Given the description of an element on the screen output the (x, y) to click on. 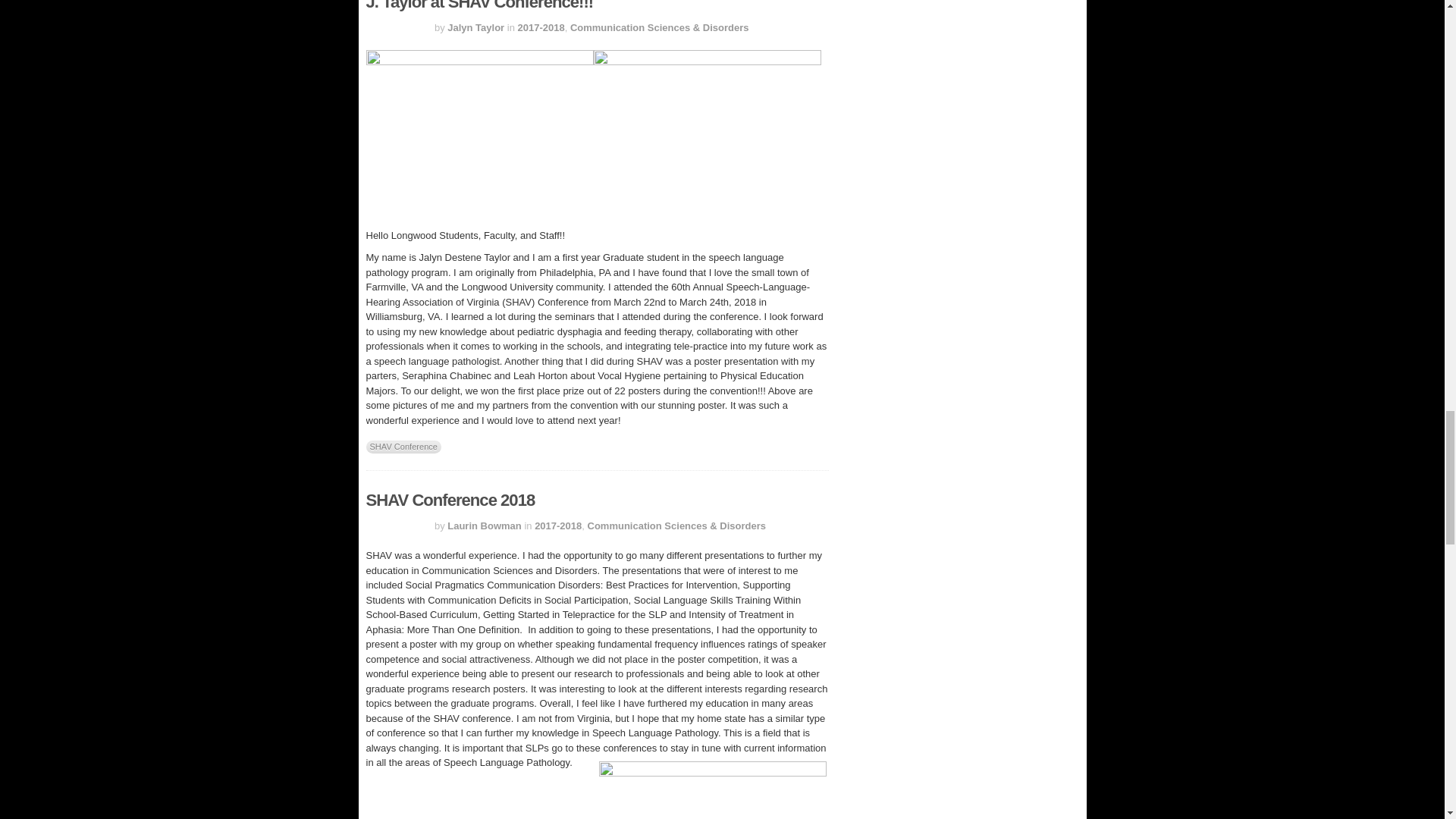
2017-2018 (541, 27)
J. Taylor at SHAV Conference!!! (478, 5)
SHAV Conference (403, 446)
Permalink to J. Taylor at SHAV Conference!!! (478, 5)
Posts by Laurin Bowman (483, 525)
Jalyn Taylor (474, 27)
Posts by Jalyn Taylor (474, 27)
Permalink to SHAV Conference 2018 (449, 499)
